Given the description of an element on the screen output the (x, y) to click on. 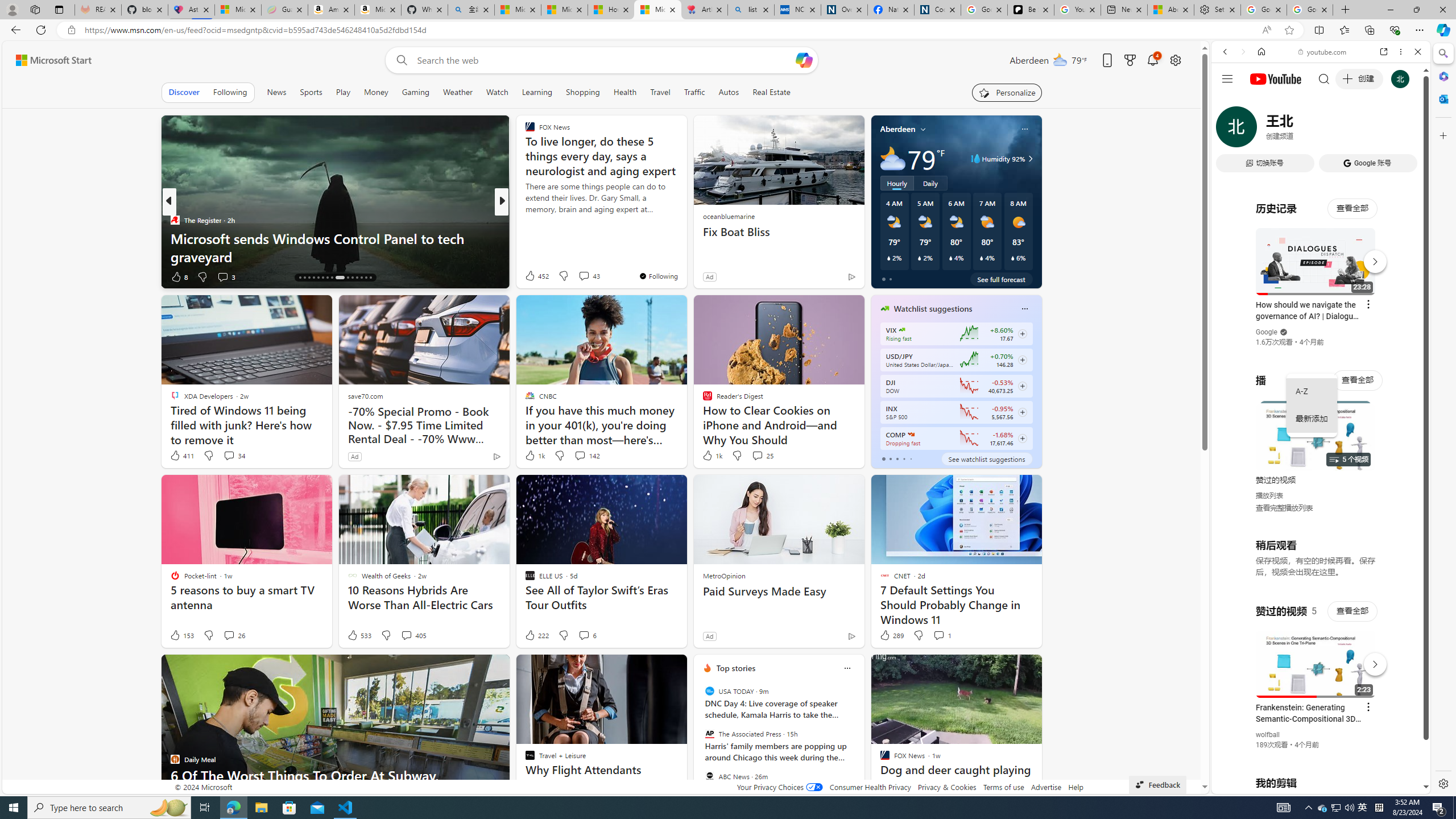
View comments 197 Comment (580, 276)
You're following FOX News (657, 275)
My location (922, 128)
Watchlist suggestions (932, 308)
Learning (536, 92)
How I Got Rid of Microsoft Edge's Unnecessary Features (610, 9)
Mostly cloudy (892, 158)
Savvy Dime (524, 219)
